Given the description of an element on the screen output the (x, y) to click on. 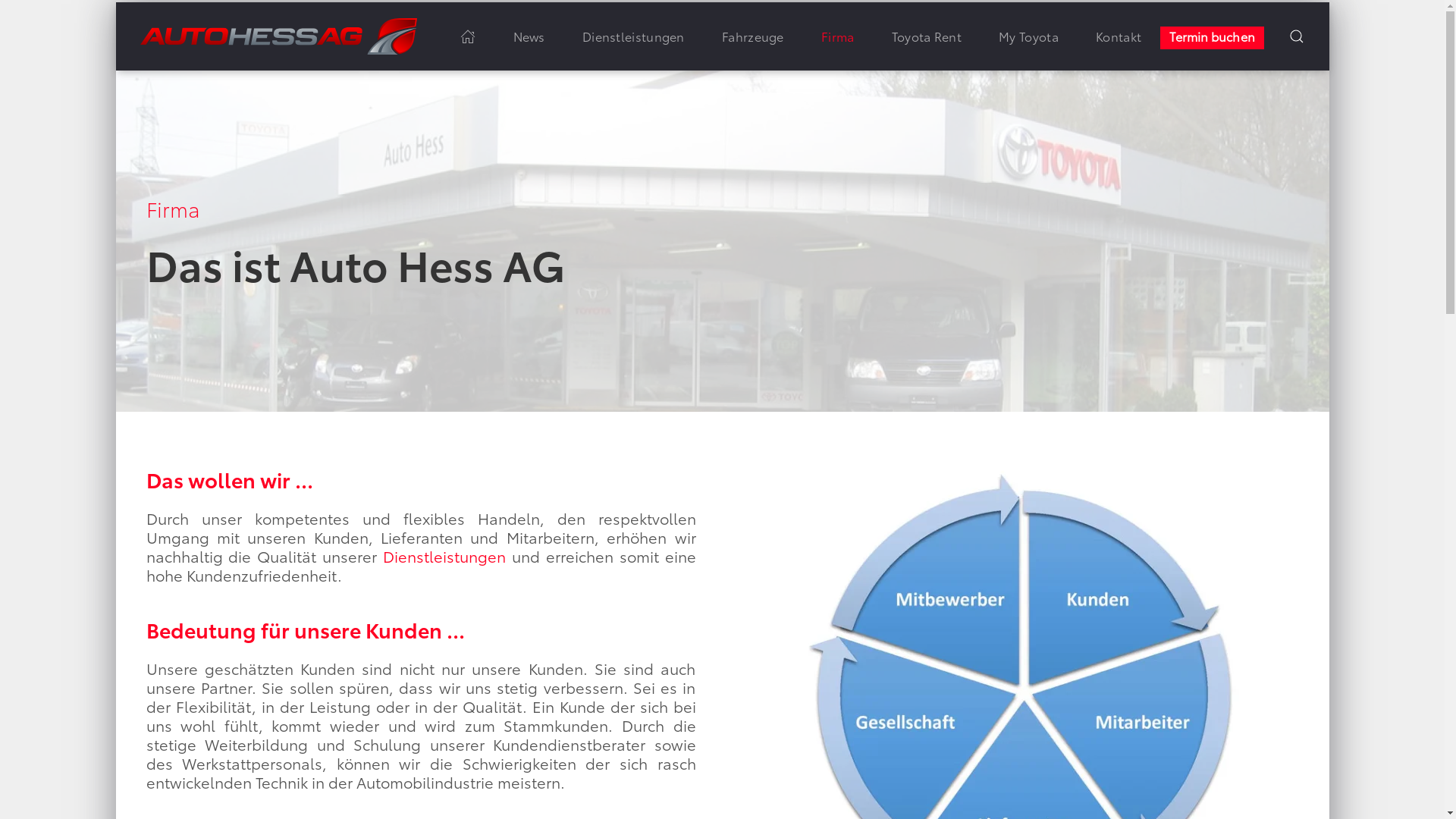
News Element type: text (528, 36)
Firma Element type: text (837, 36)
Kontakt Element type: text (1117, 36)
Dienstleistungen Element type: text (632, 36)
Dienstleistungen Element type: text (443, 555)
My Toyota Element type: text (1028, 36)
Fahrzeuge Element type: text (752, 36)
Toyota Rent Element type: text (926, 36)
Termin buchen Element type: text (1212, 37)
